Given the description of an element on the screen output the (x, y) to click on. 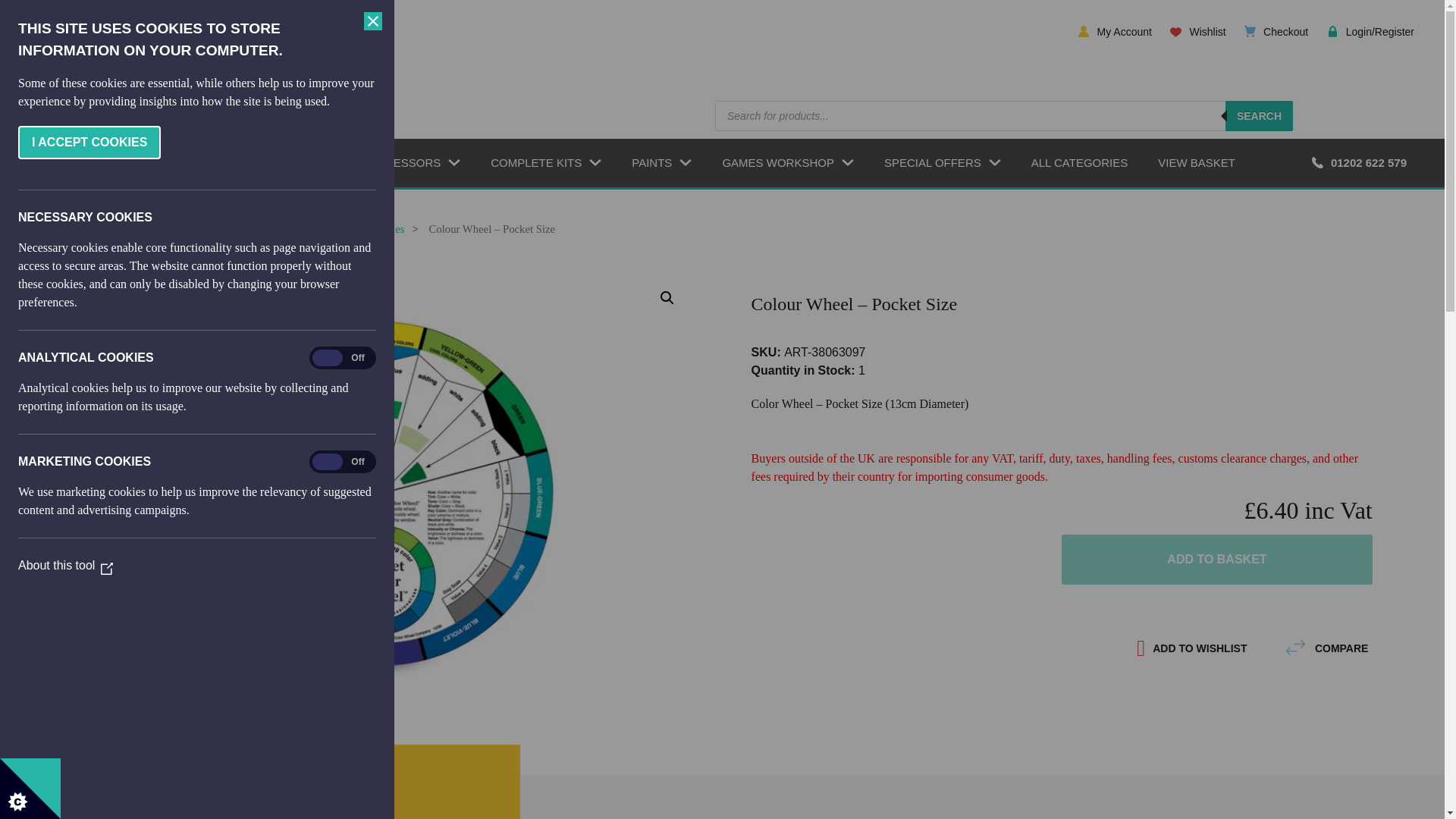
PayPal Message 1 (1062, 617)
